Given the description of an element on the screen output the (x, y) to click on. 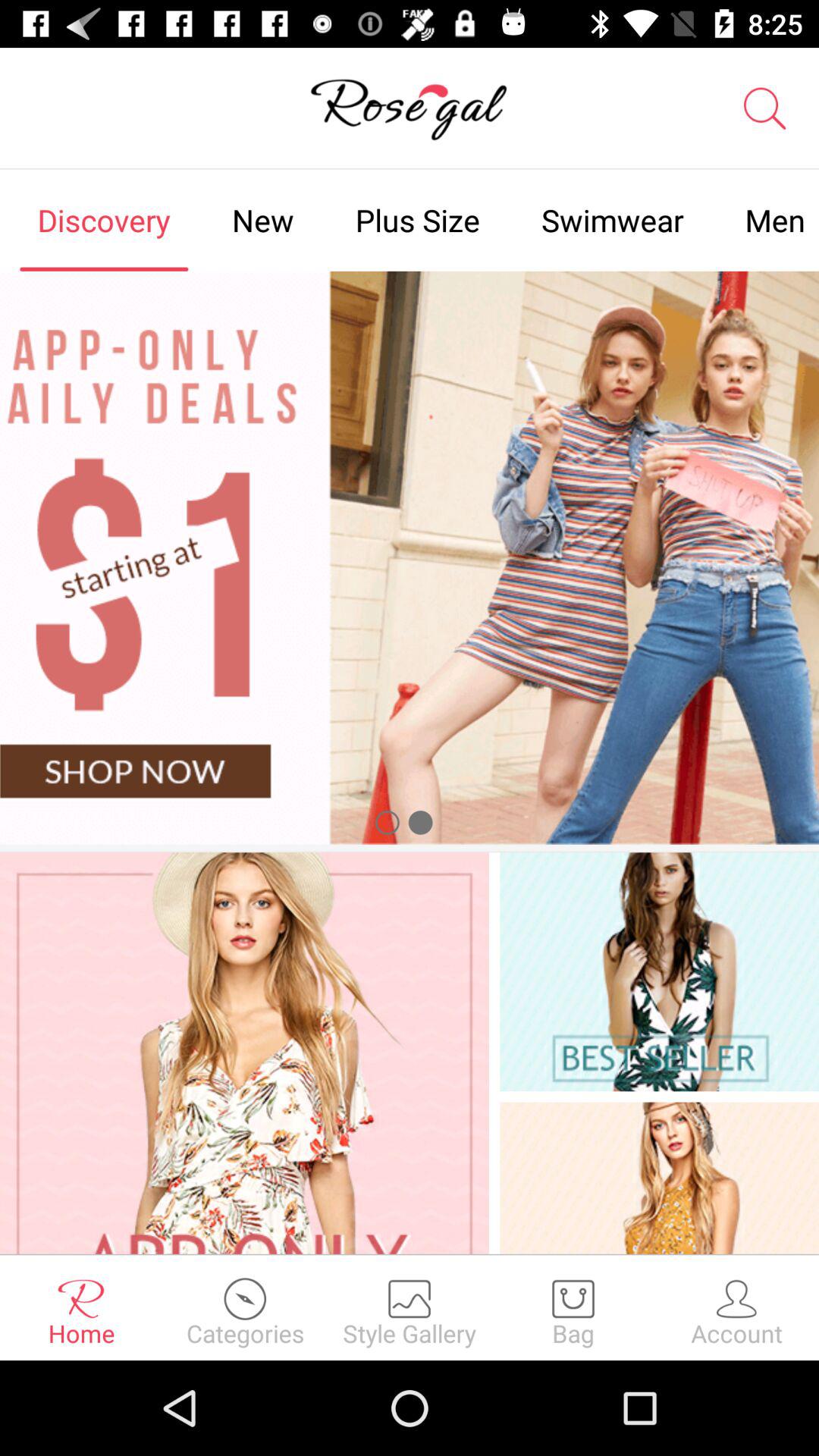
open deals shop page (409, 557)
